Given the description of an element on the screen output the (x, y) to click on. 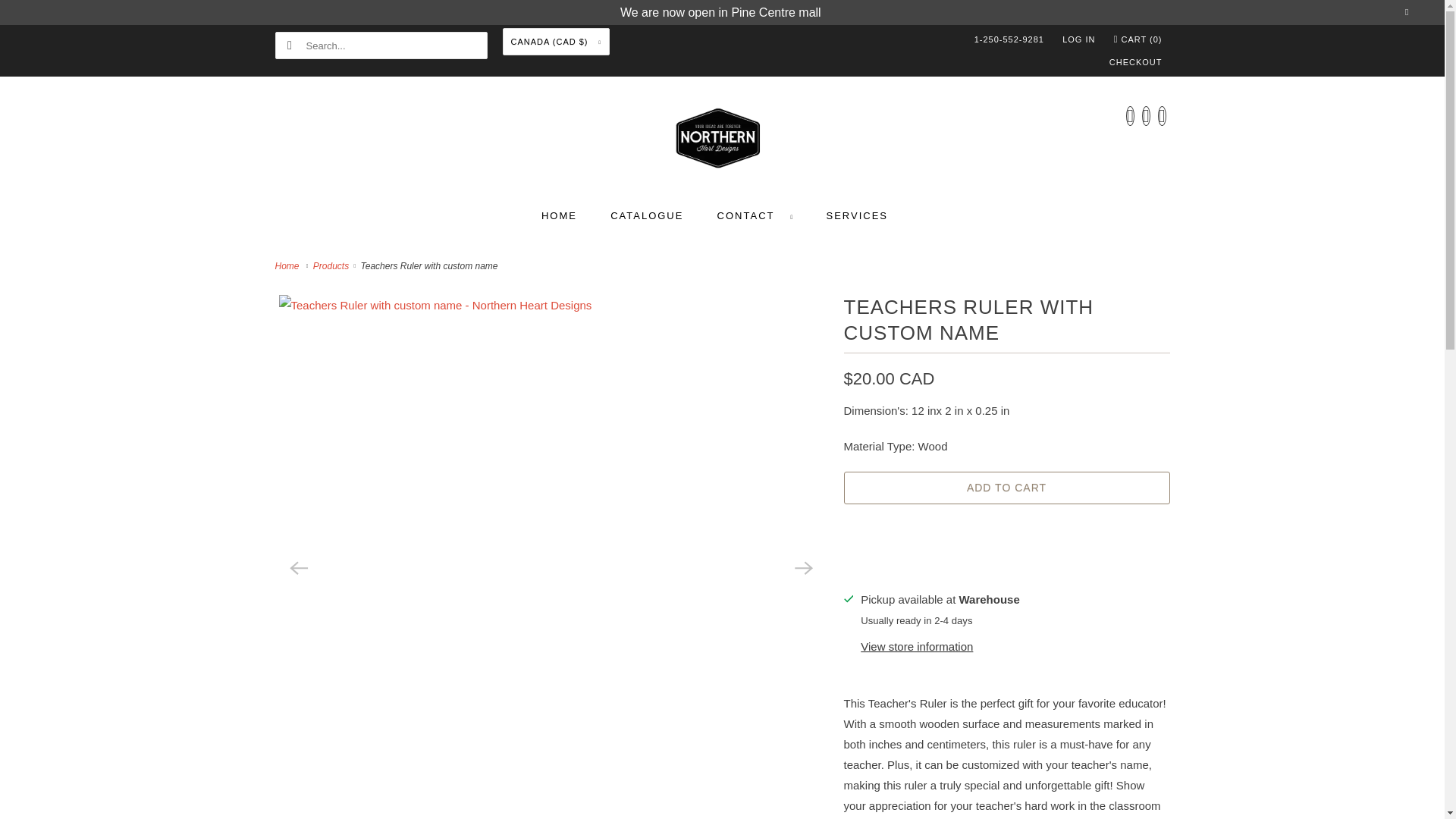
We are now open in Pine Centre mall (720, 12)
Northern Hart Designs (288, 266)
Products (332, 266)
Northern Hart Designs (722, 140)
